Given the description of an element on the screen output the (x, y) to click on. 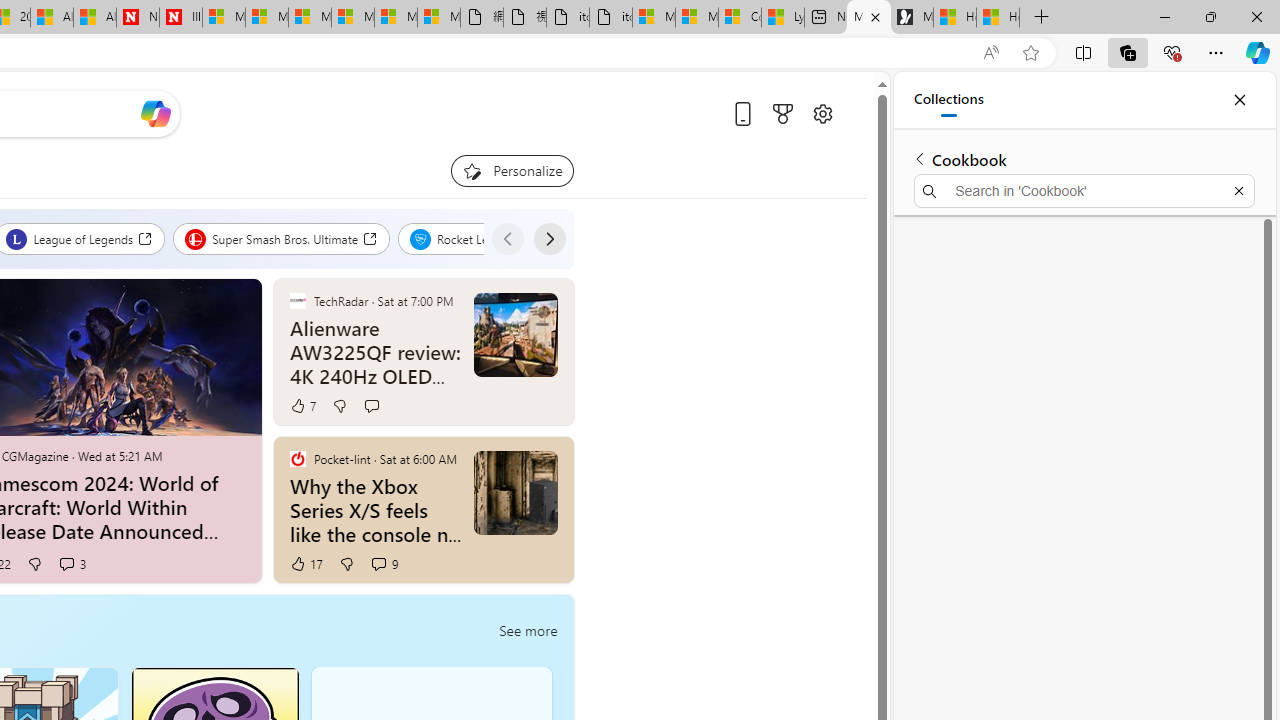
Open settings (822, 113)
Microsoft account | Privacy (696, 17)
Open Copilot (155, 113)
See more (548, 460)
Microsoft Services Agreement (266, 17)
Start the conversation (370, 405)
View comments 9 Comment (383, 564)
Newsweek - News, Analysis, Politics, Business, Technology (137, 17)
